Given the description of an element on the screen output the (x, y) to click on. 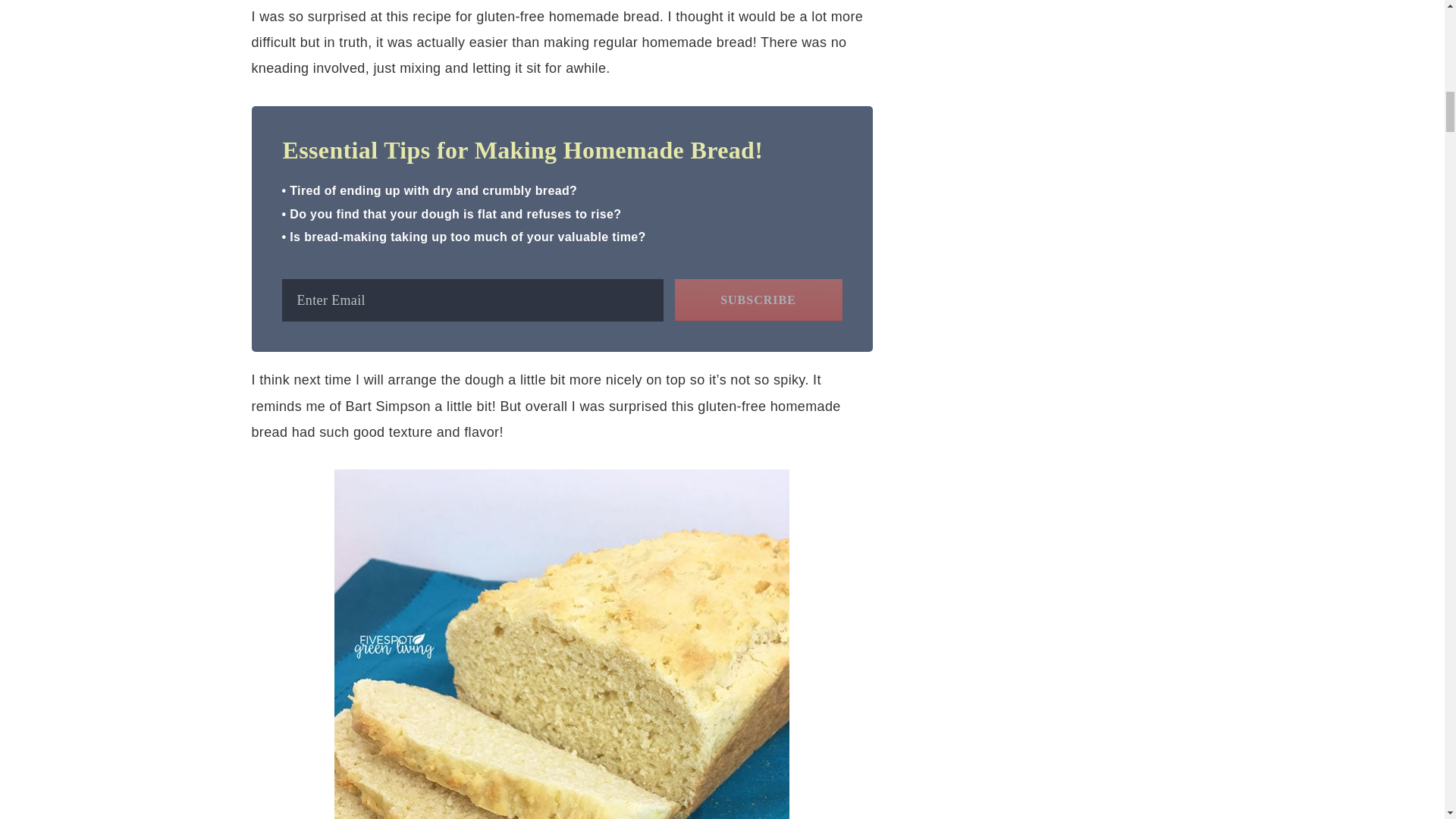
SUBSCRIBE (759, 300)
